Given the description of an element on the screen output the (x, y) to click on. 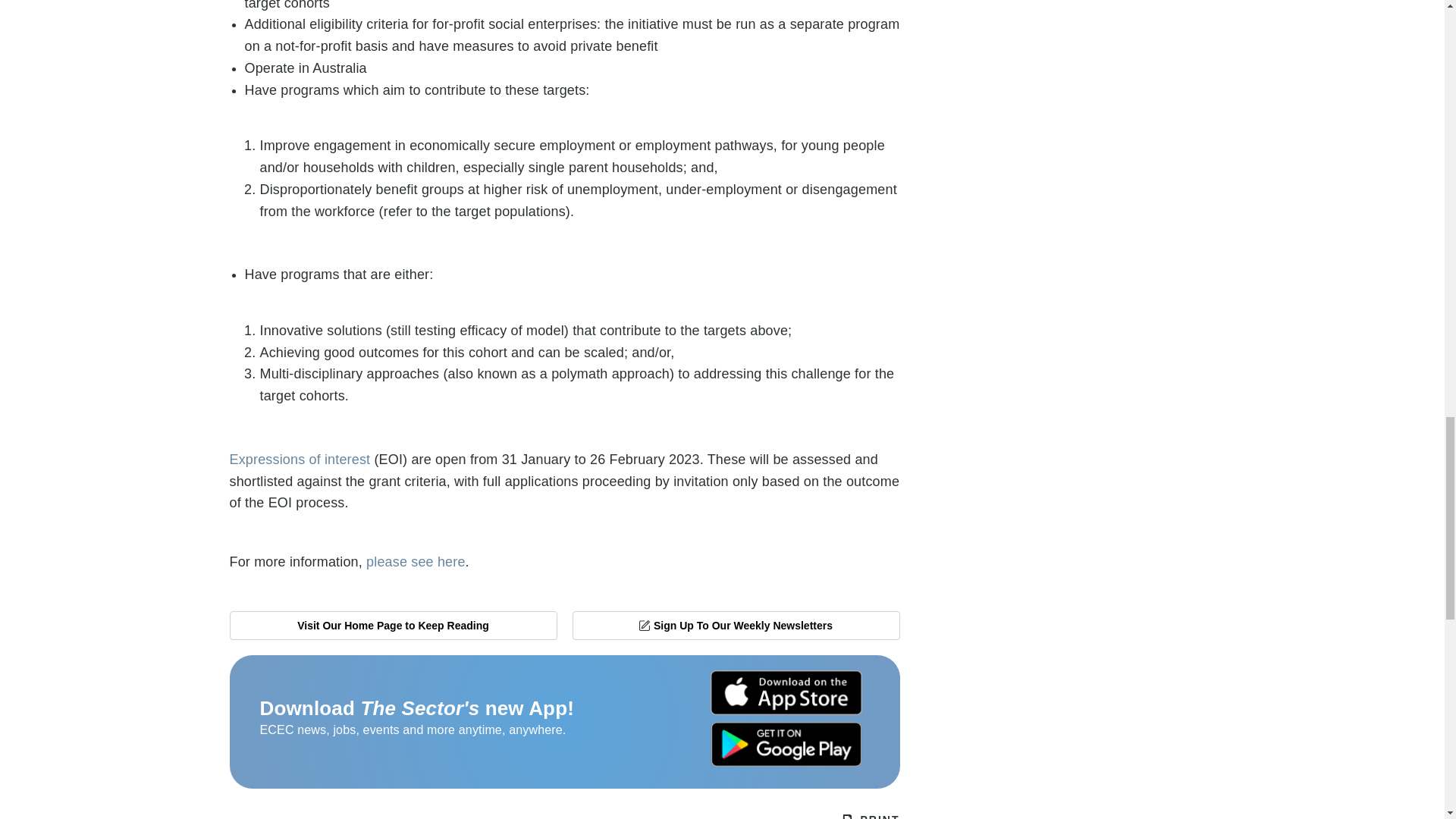
Sign Up To Our Weekly Newsletters (735, 624)
please see here (415, 561)
Visit Our Home Page to Keep Reading (392, 624)
